Given the description of an element on the screen output the (x, y) to click on. 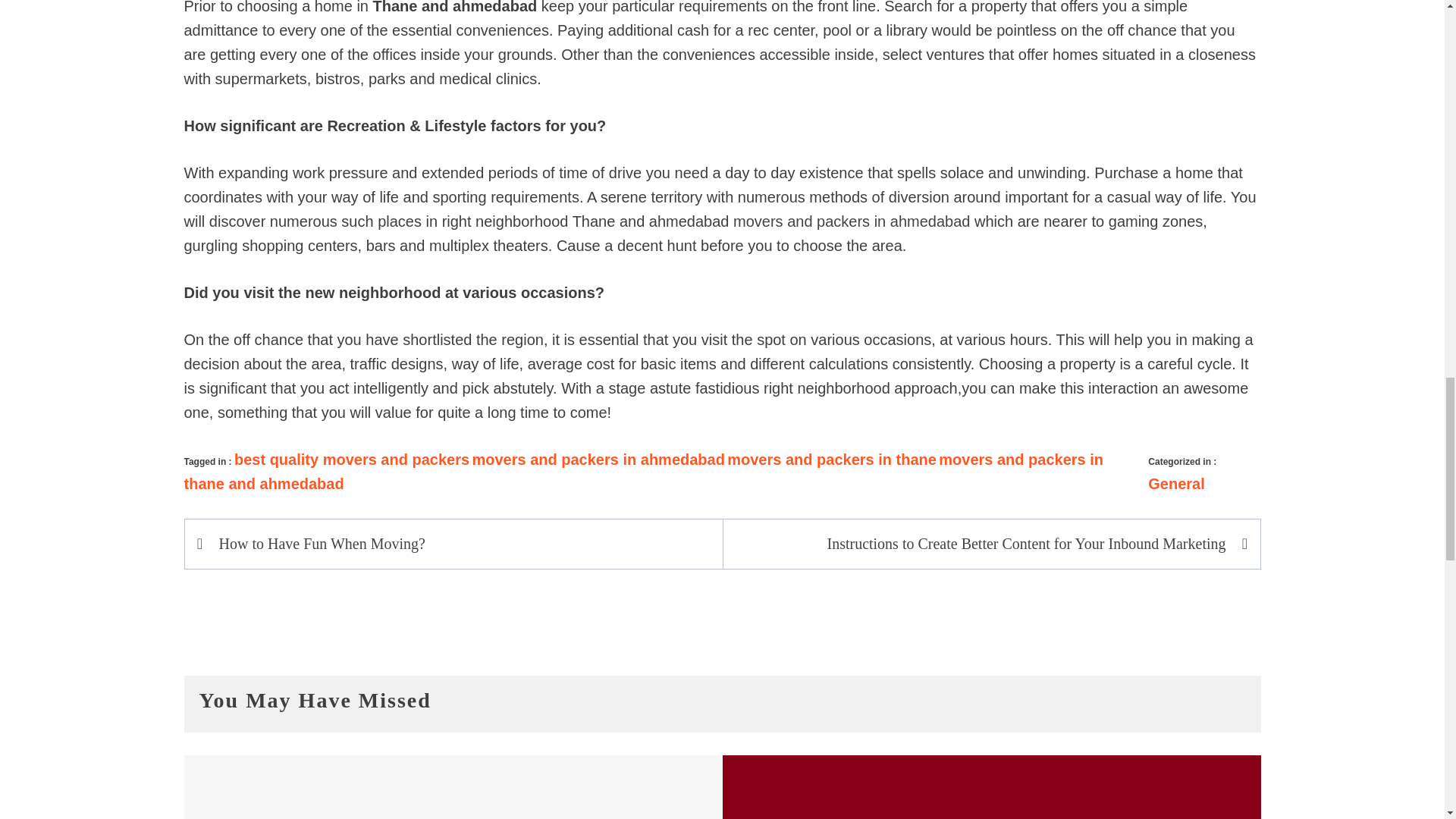
movers and packers in thane and ahmedabad (643, 471)
How to Have Fun When Moving? (461, 543)
movers and packers in thane (831, 459)
best quality movers and packers (351, 459)
movers and packers in ahmedabad (597, 459)
General (1176, 483)
movers and packers in ahmedabad (851, 221)
